Given the description of an element on the screen output the (x, y) to click on. 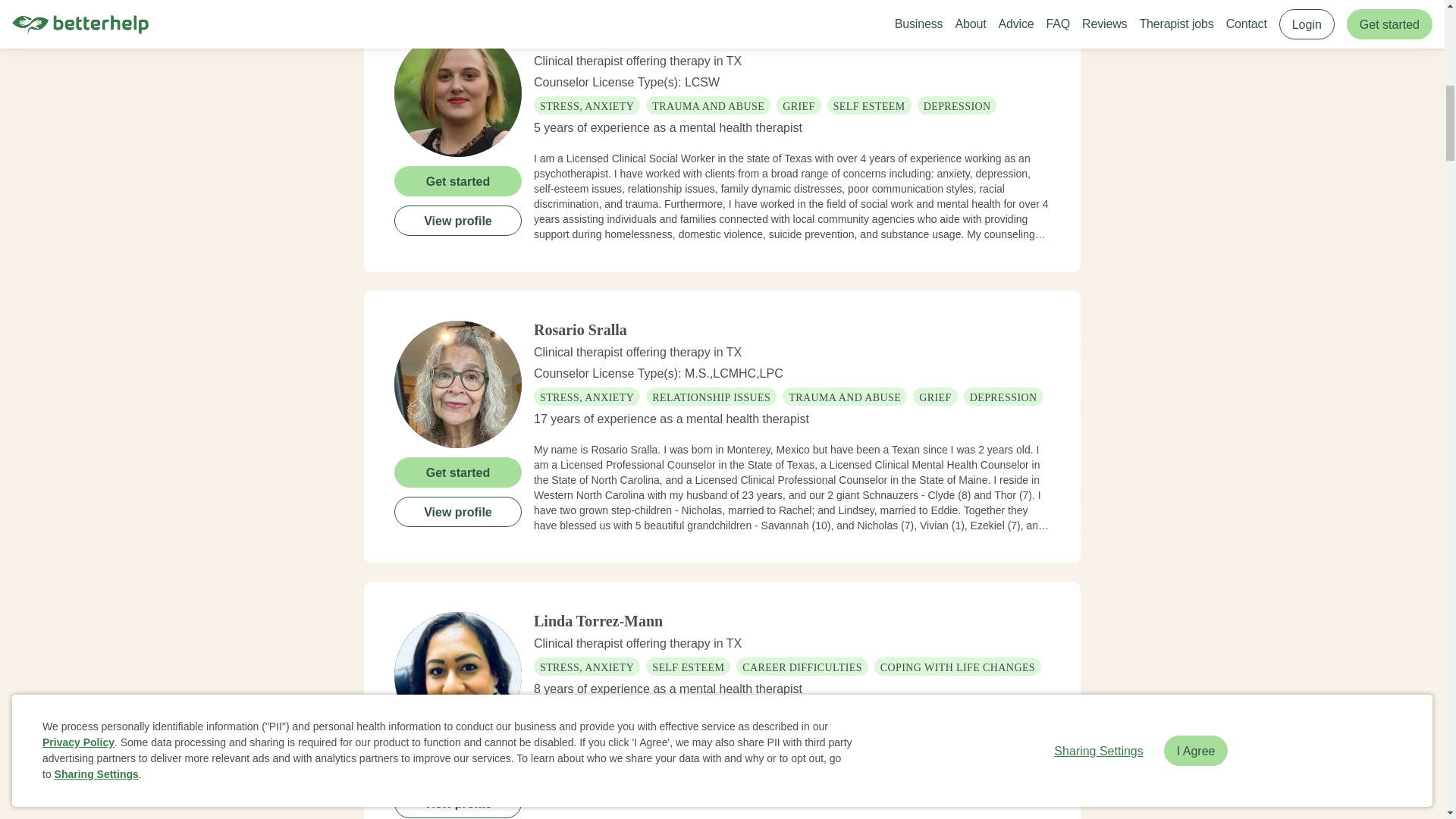
Click here to view Melissa McClain's profile 1 (457, 92)
Get started (457, 180)
View profile (457, 802)
Get started (457, 471)
Get started (457, 762)
Click here to view Rosario Sralla's profile 1 (457, 383)
View profile (457, 219)
View profile (457, 511)
